Given the description of an element on the screen output the (x, y) to click on. 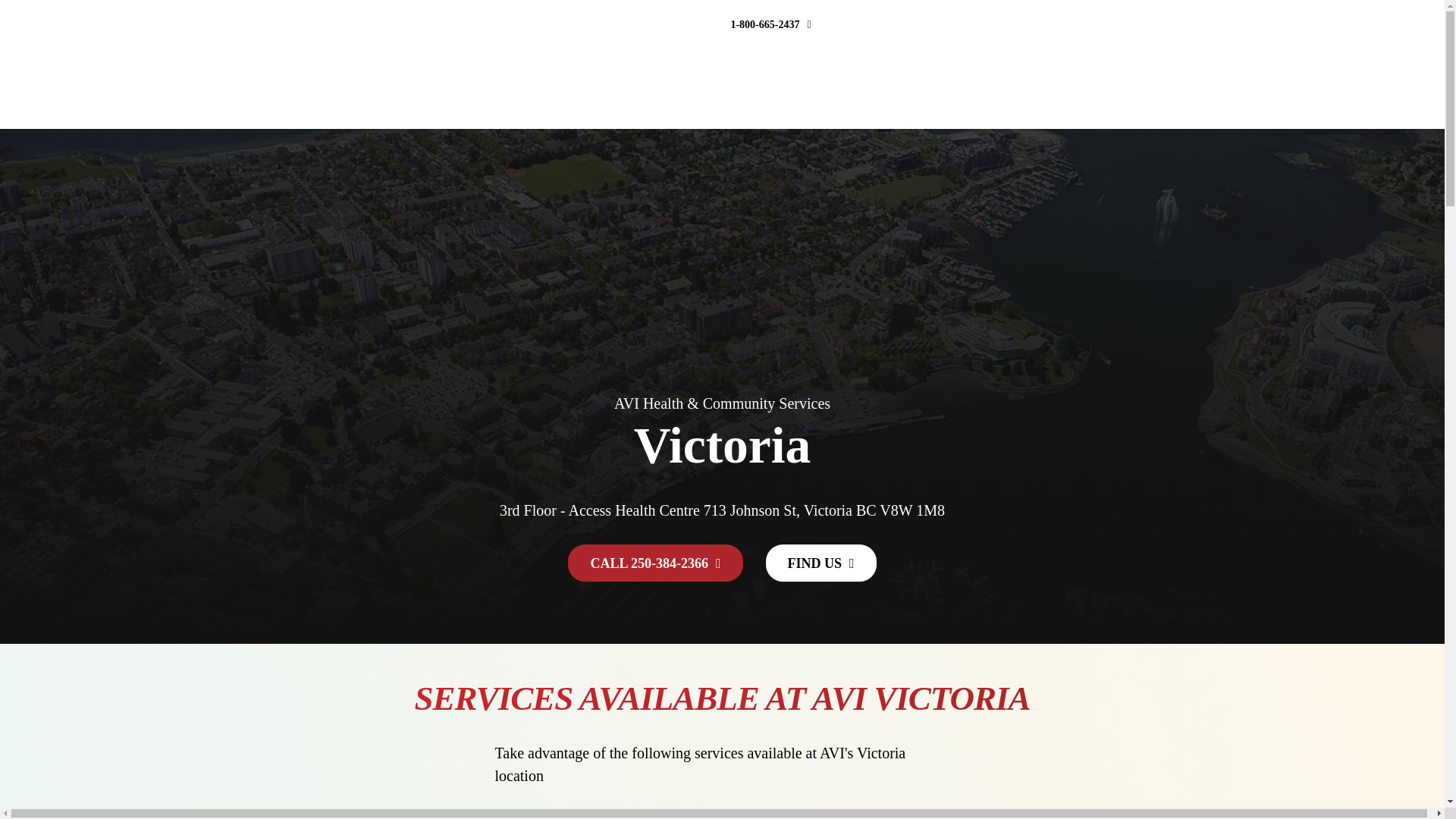
Careers (1140, 88)
Locations (898, 88)
Contact (1215, 88)
Services (810, 88)
About (980, 88)
Call our InfoLine (652, 24)
Support (1058, 88)
1-800-665-2437 (770, 24)
